Given the description of an element on the screen output the (x, y) to click on. 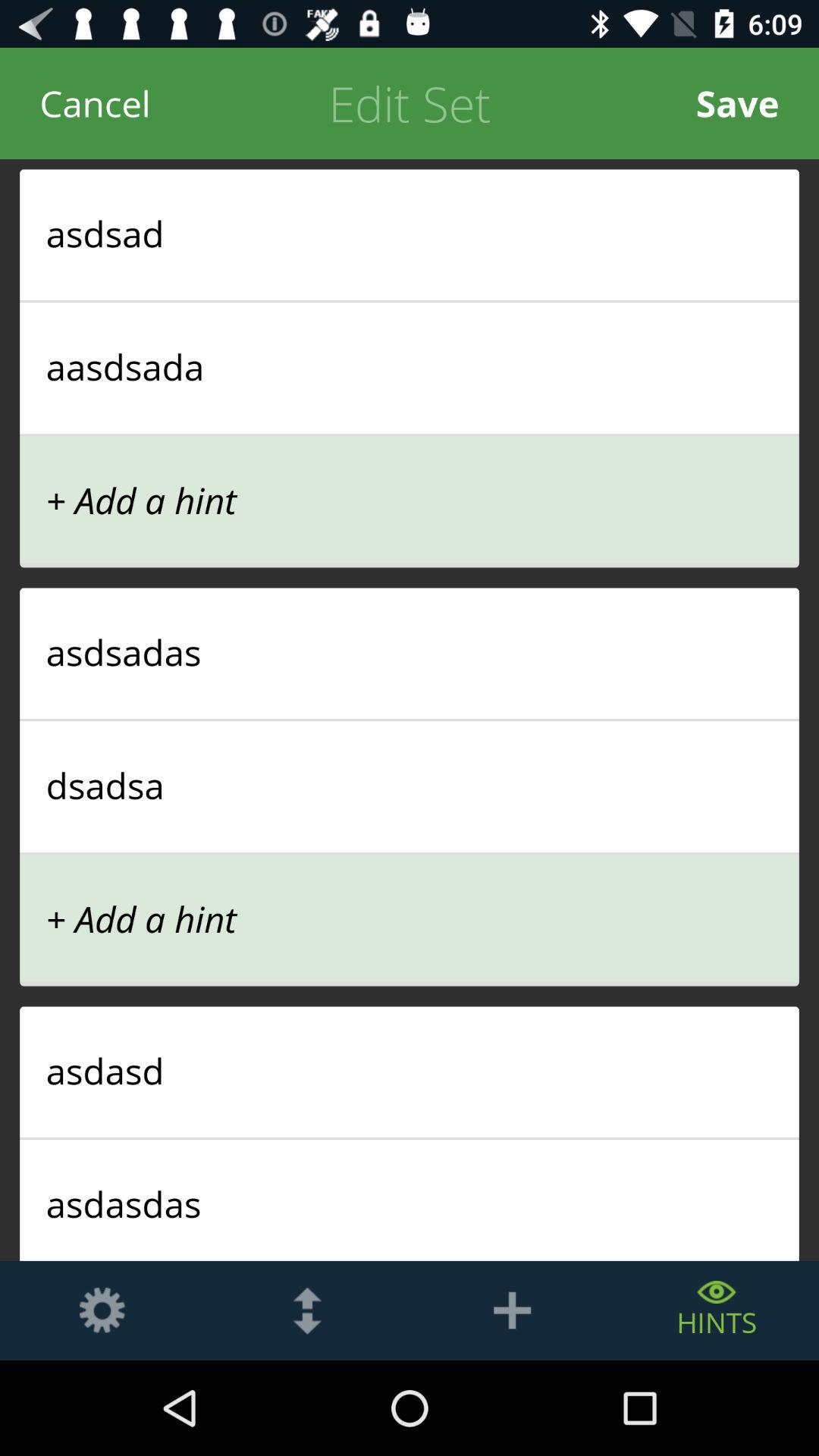
add a hint (511, 1310)
